Given the description of an element on the screen output the (x, y) to click on. 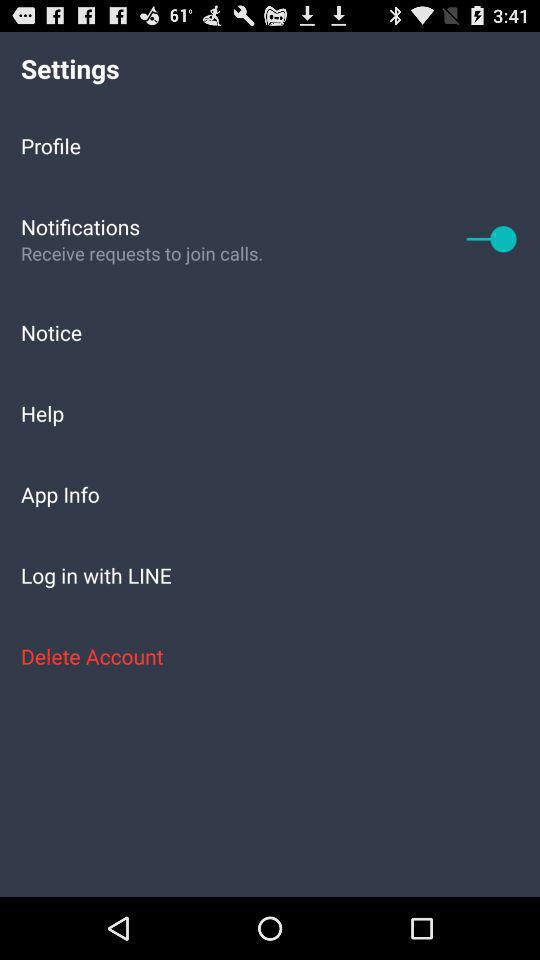
tap the item below profile app (492, 238)
